Given the description of an element on the screen output the (x, y) to click on. 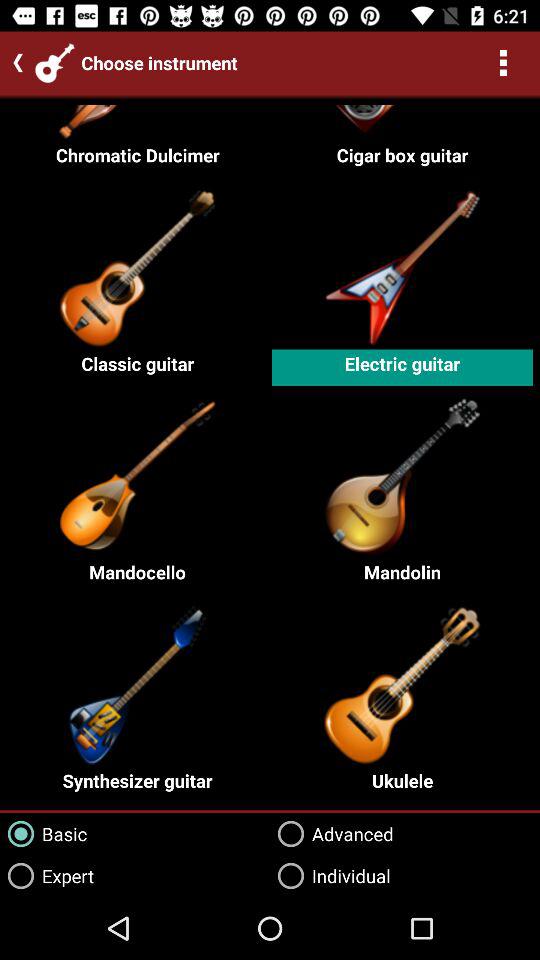
launch the individual icon (330, 875)
